Given the description of an element on the screen output the (x, y) to click on. 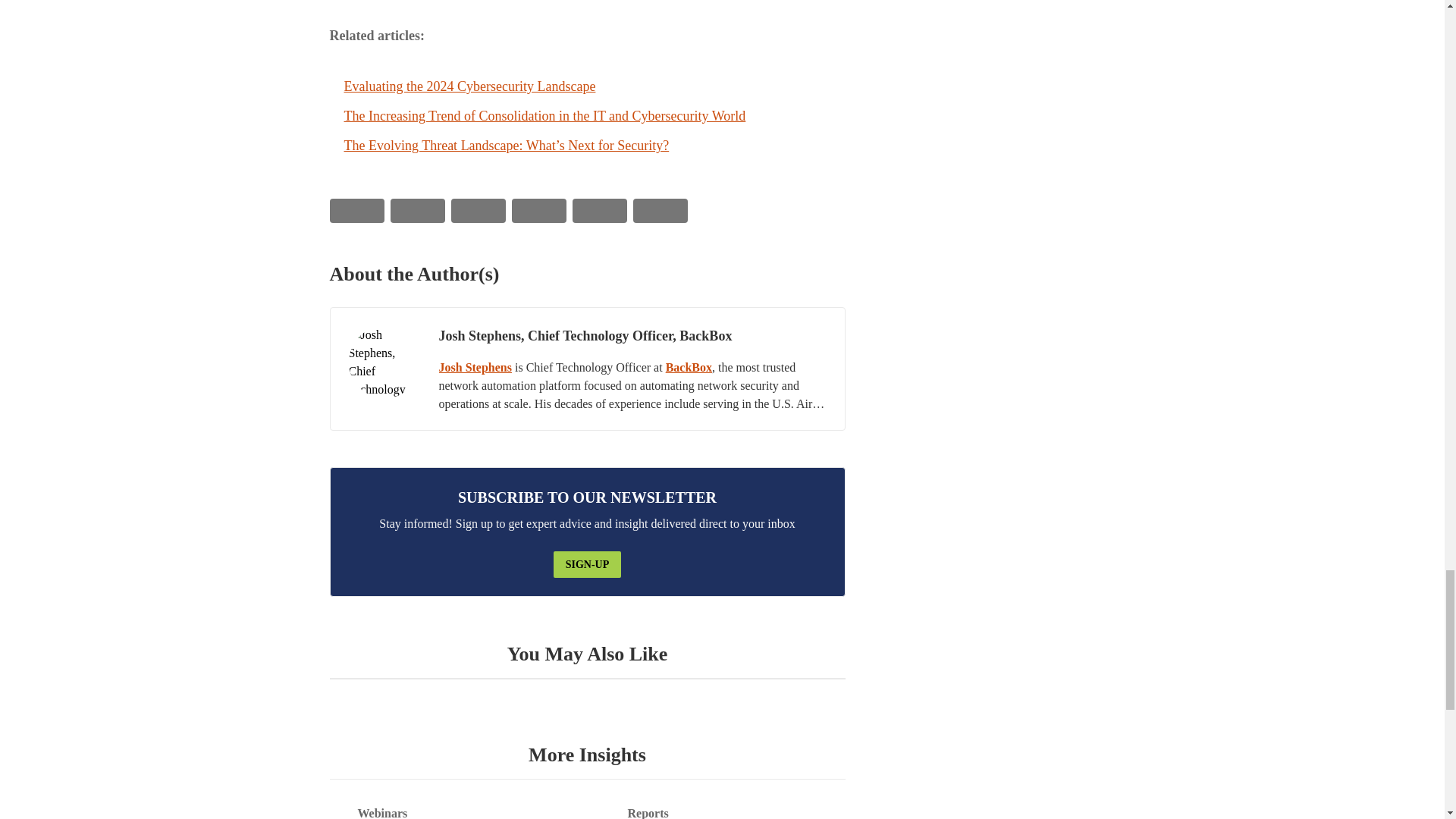
Josh Stephens, Chief Technology Officer, BackBox (384, 361)
